Given the description of an element on the screen output the (x, y) to click on. 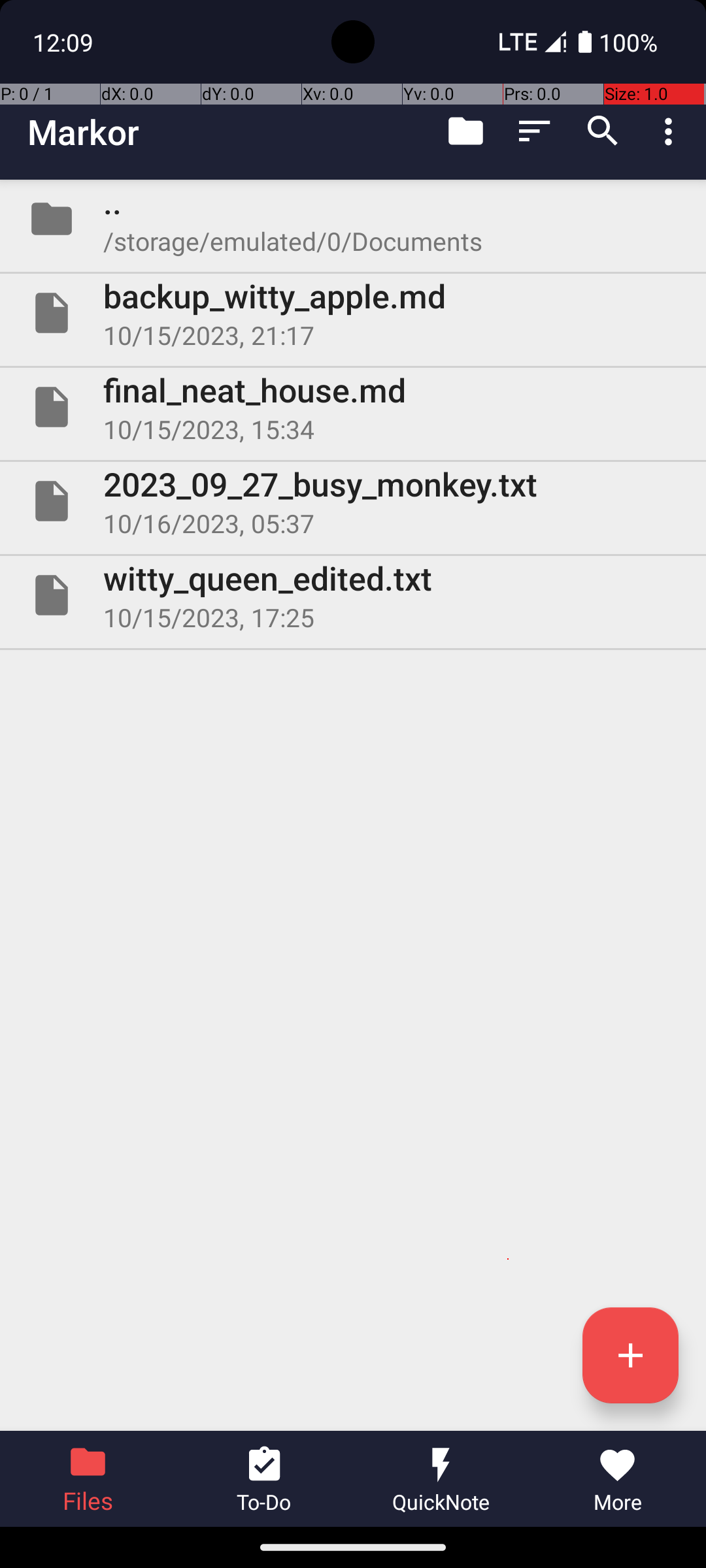
File backup_witty_apple.md  Element type: android.widget.LinearLayout (353, 312)
File final_neat_house.md  Element type: android.widget.LinearLayout (353, 406)
File 2023_09_27_busy_monkey.txt  Element type: android.widget.LinearLayout (353, 500)
File witty_queen_edited.txt  Element type: android.widget.LinearLayout (353, 594)
12:09 Element type: android.widget.TextView (64, 41)
